Given the description of an element on the screen output the (x, y) to click on. 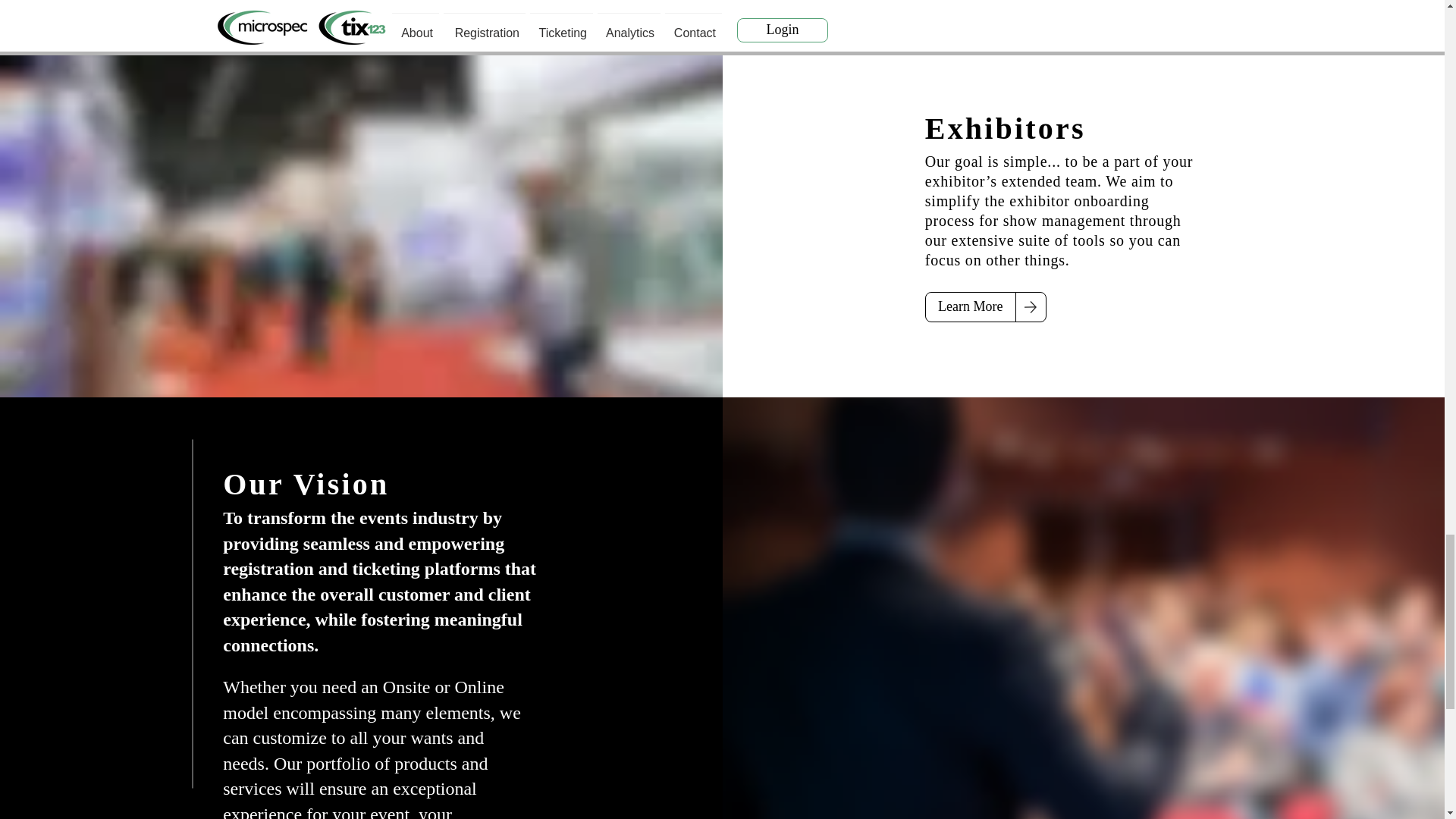
Learn More (970, 306)
